Given the description of an element on the screen output the (x, y) to click on. 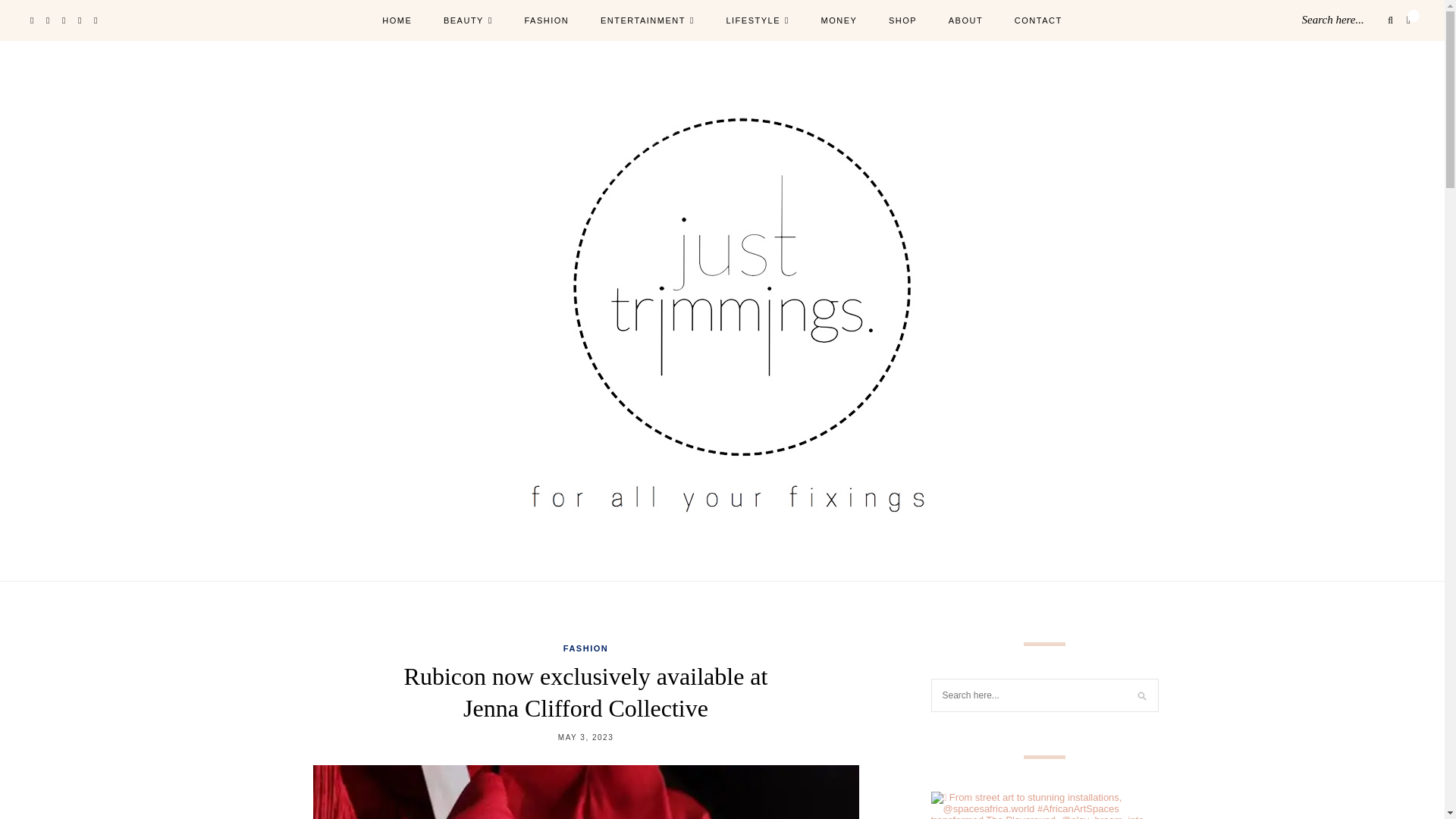
MONEY (839, 20)
ENTERTAINMENT (646, 20)
FASHION (546, 20)
MAY 3, 2023 (584, 737)
LIFESTYLE (757, 20)
CONTACT (1038, 20)
BEAUTY (468, 20)
FASHION (585, 647)
